Given the description of an element on the screen output the (x, y) to click on. 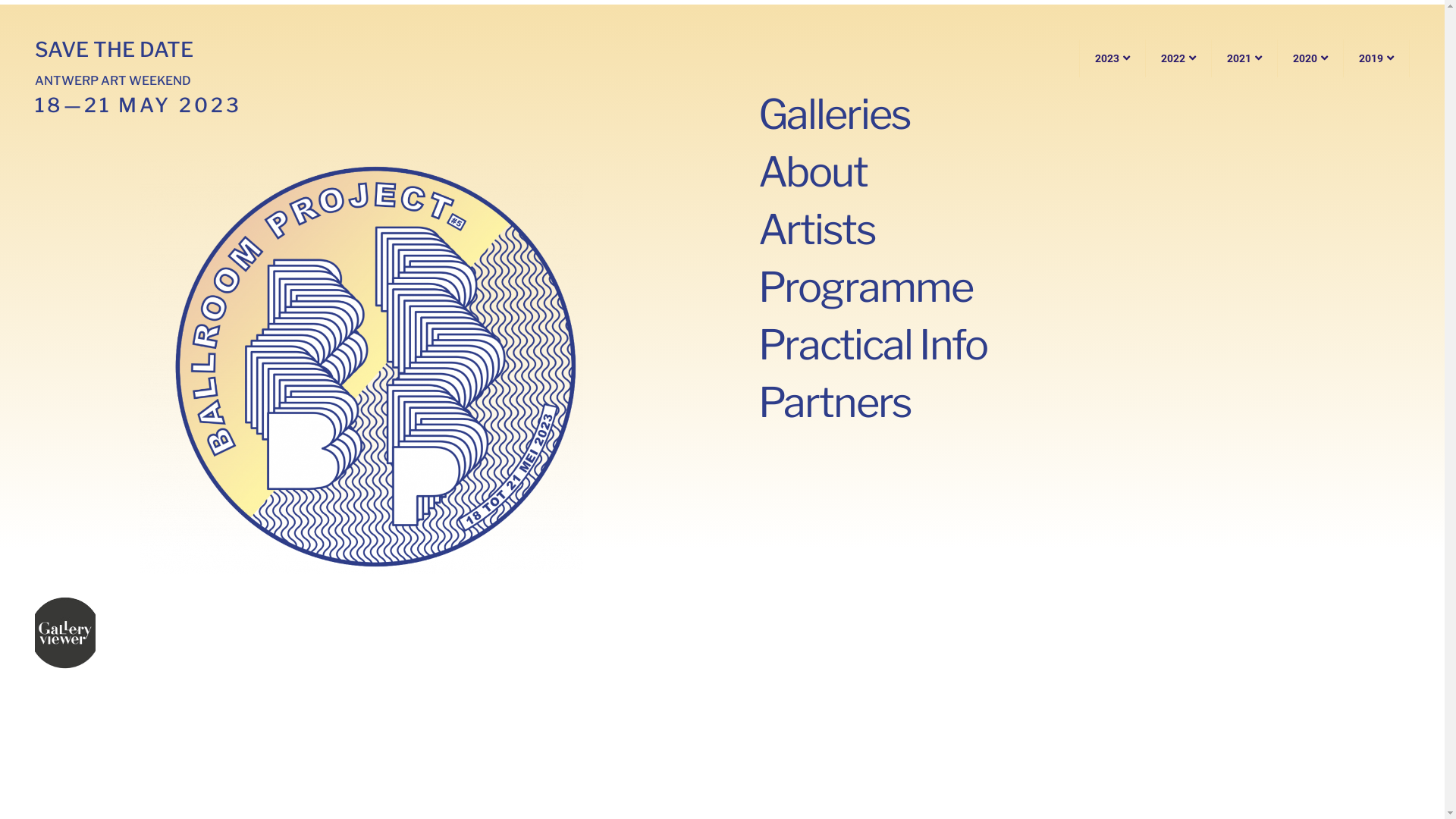
Partners Element type: text (833, 402)
2023 Element type: text (1112, 58)
Practical Info Element type: text (872, 344)
About Element type: text (812, 171)
Galleries Element type: text (833, 114)
2021 Element type: text (1244, 58)
2020 Element type: text (1310, 58)
Artists Element type: text (815, 229)
Programme Element type: text (864, 287)
2022 Element type: text (1178, 58)
2019 Element type: text (1376, 58)
